Given the description of an element on the screen output the (x, y) to click on. 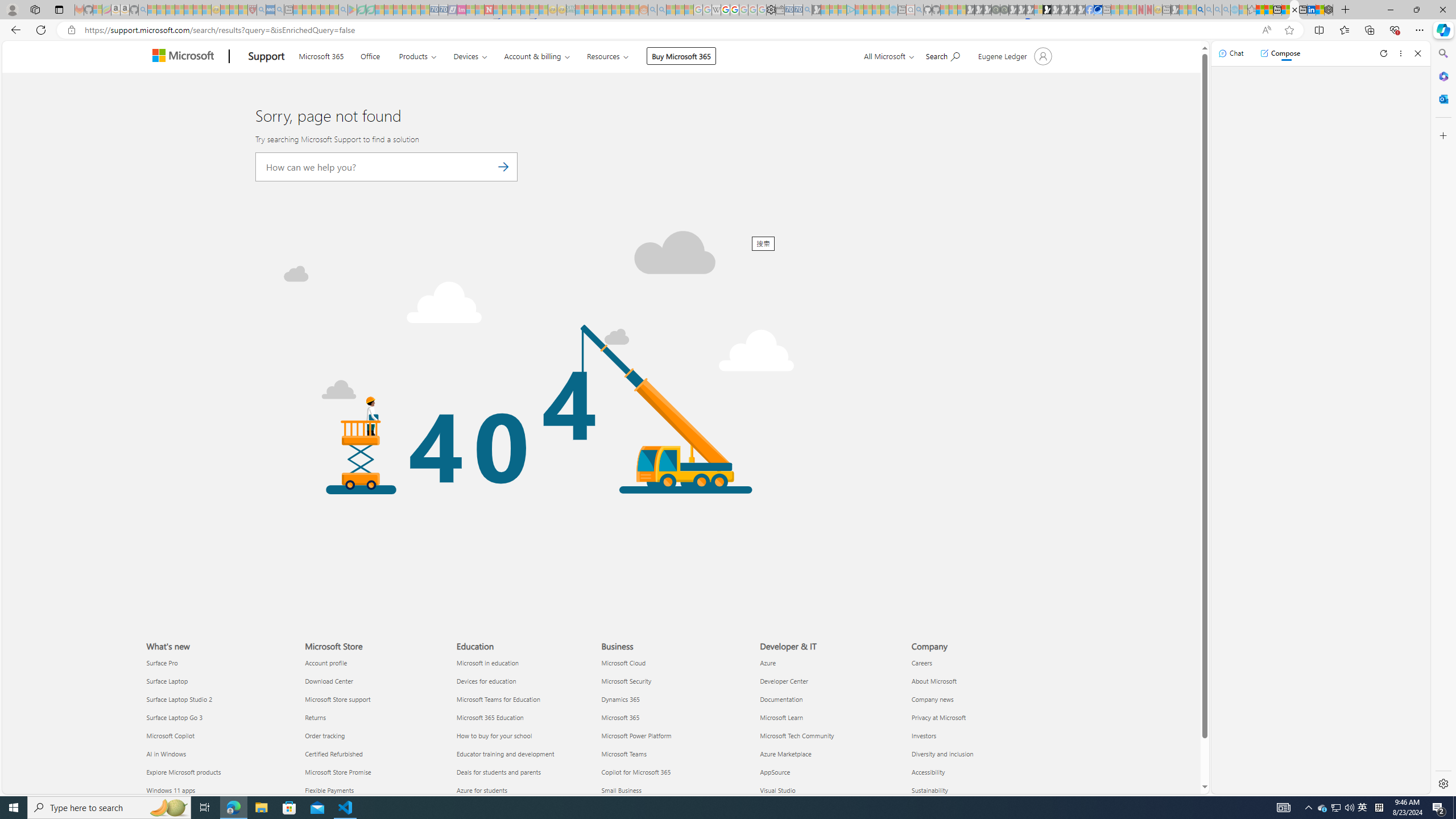
Microsoft Teams (673, 753)
Company news (980, 698)
Deals for students and parents (525, 771)
Microsoft 365 Education Education (489, 716)
Azure for students (525, 789)
Error - Office.com (1294, 9)
Flexible Payments (373, 789)
